Given the description of an element on the screen output the (x, y) to click on. 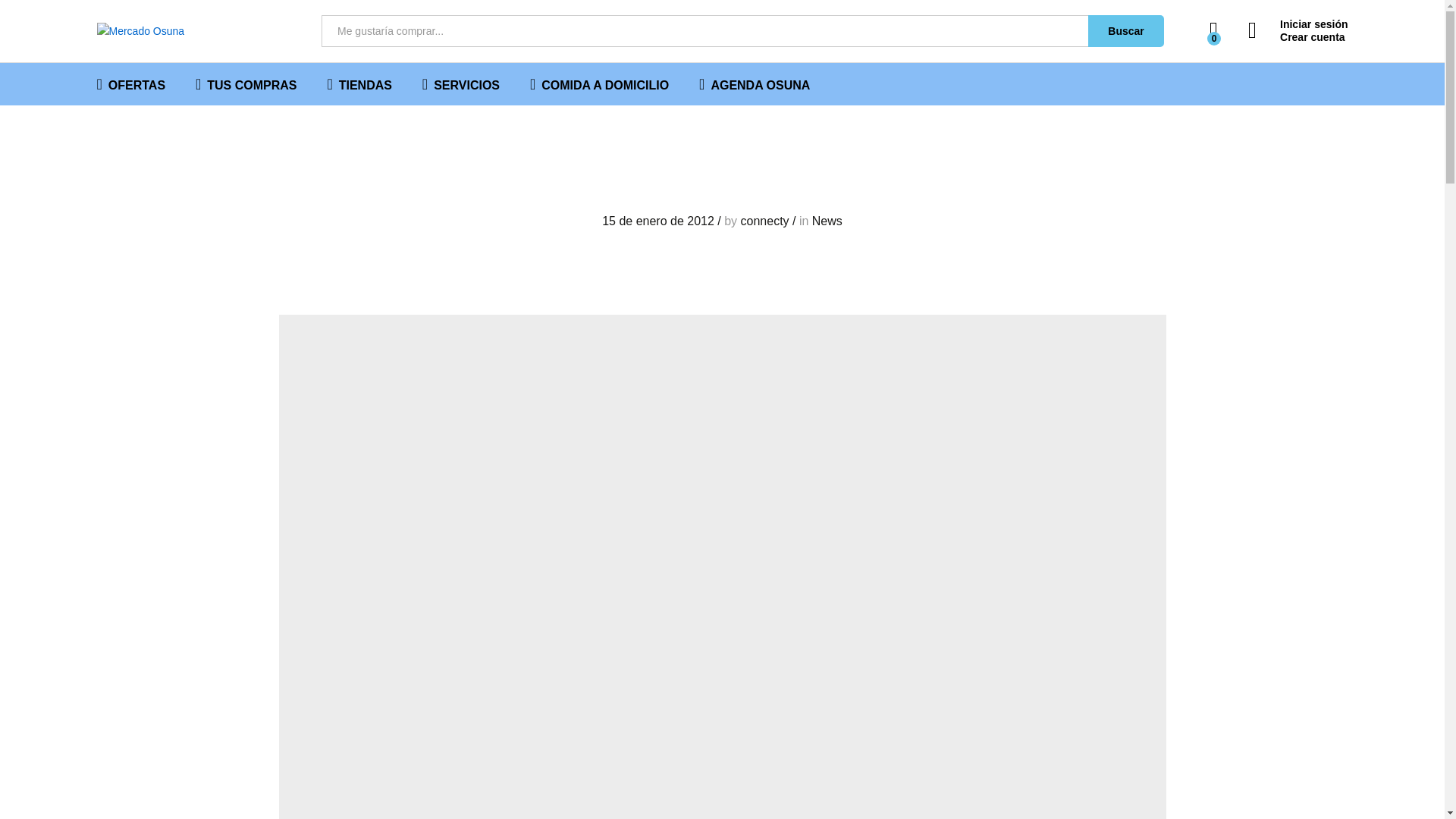
Buscar (1125, 30)
OFERTAS (131, 83)
Crear cuenta (1297, 37)
TUS COMPRAS (246, 83)
